Given the description of an element on the screen output the (x, y) to click on. 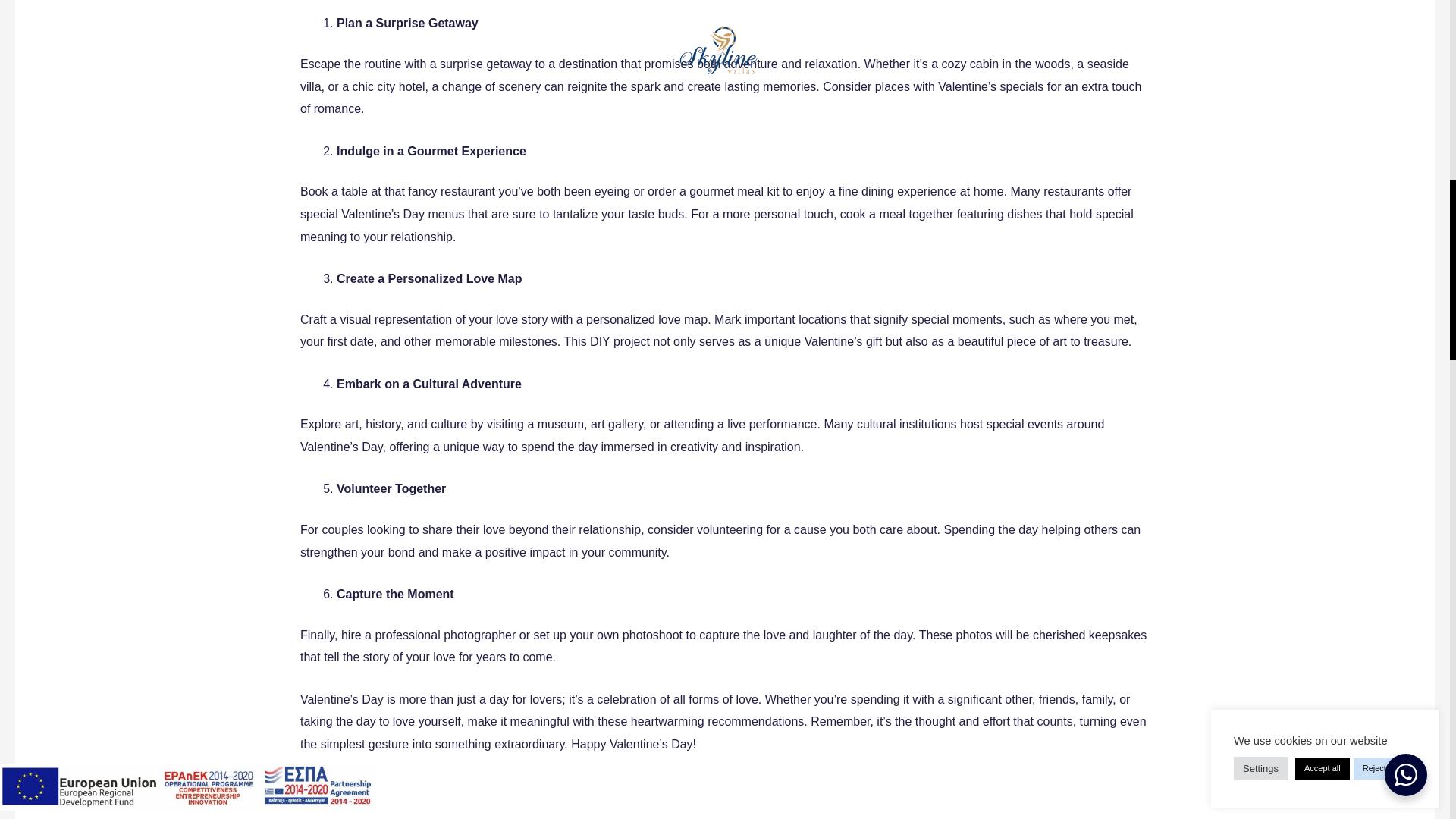
SERVICES (136, 639)
ABOUT NAXOS SKYLINE (181, 608)
Villa Infinity (525, 482)
Villa Horizon (528, 452)
NAXOS ISLAND (154, 669)
Villa Avra (519, 513)
